Given the description of an element on the screen output the (x, y) to click on. 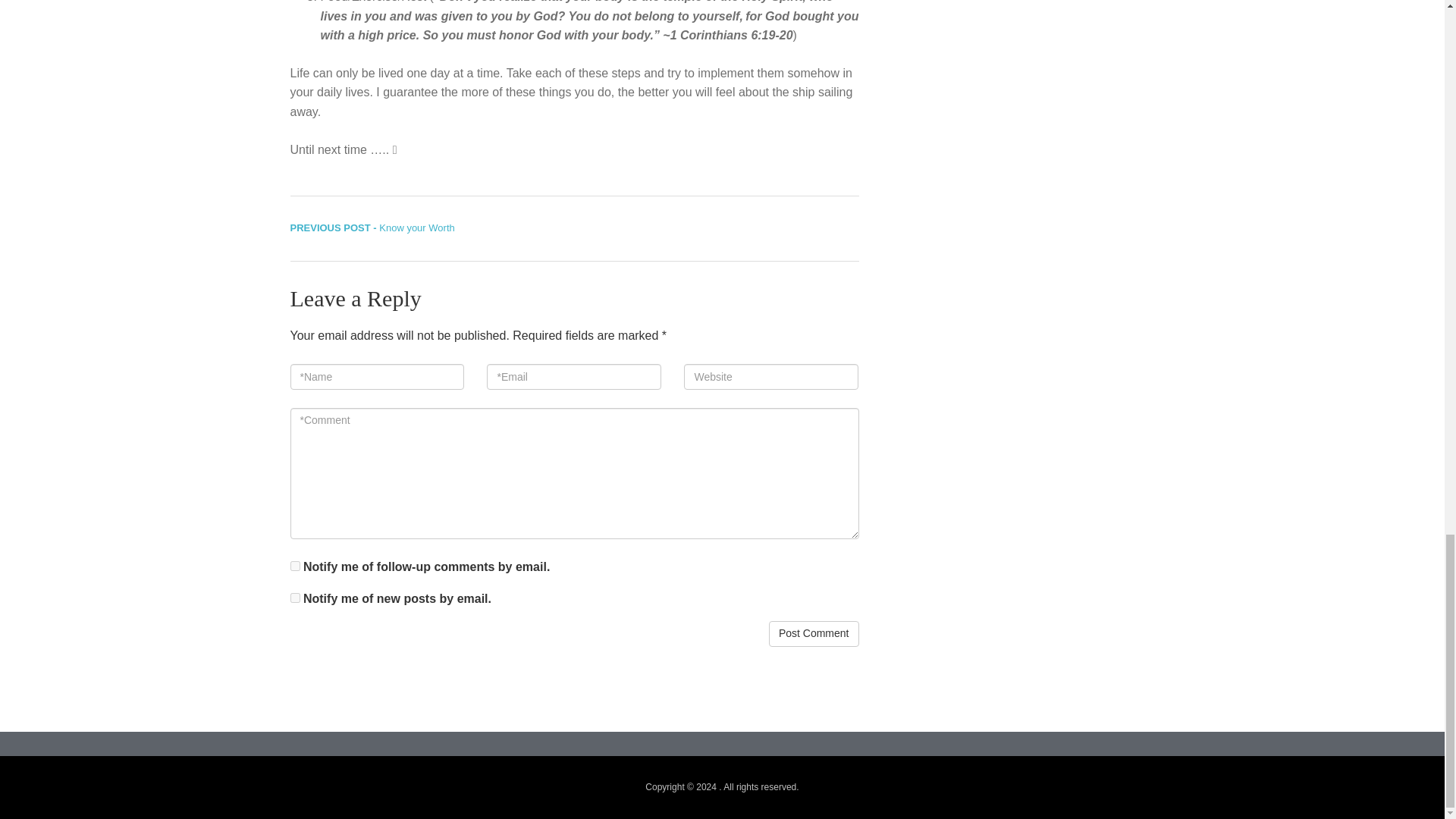
subscribe (294, 565)
subscribe (371, 227)
Post Comment (294, 597)
Post Comment (813, 633)
